Given the description of an element on the screen output the (x, y) to click on. 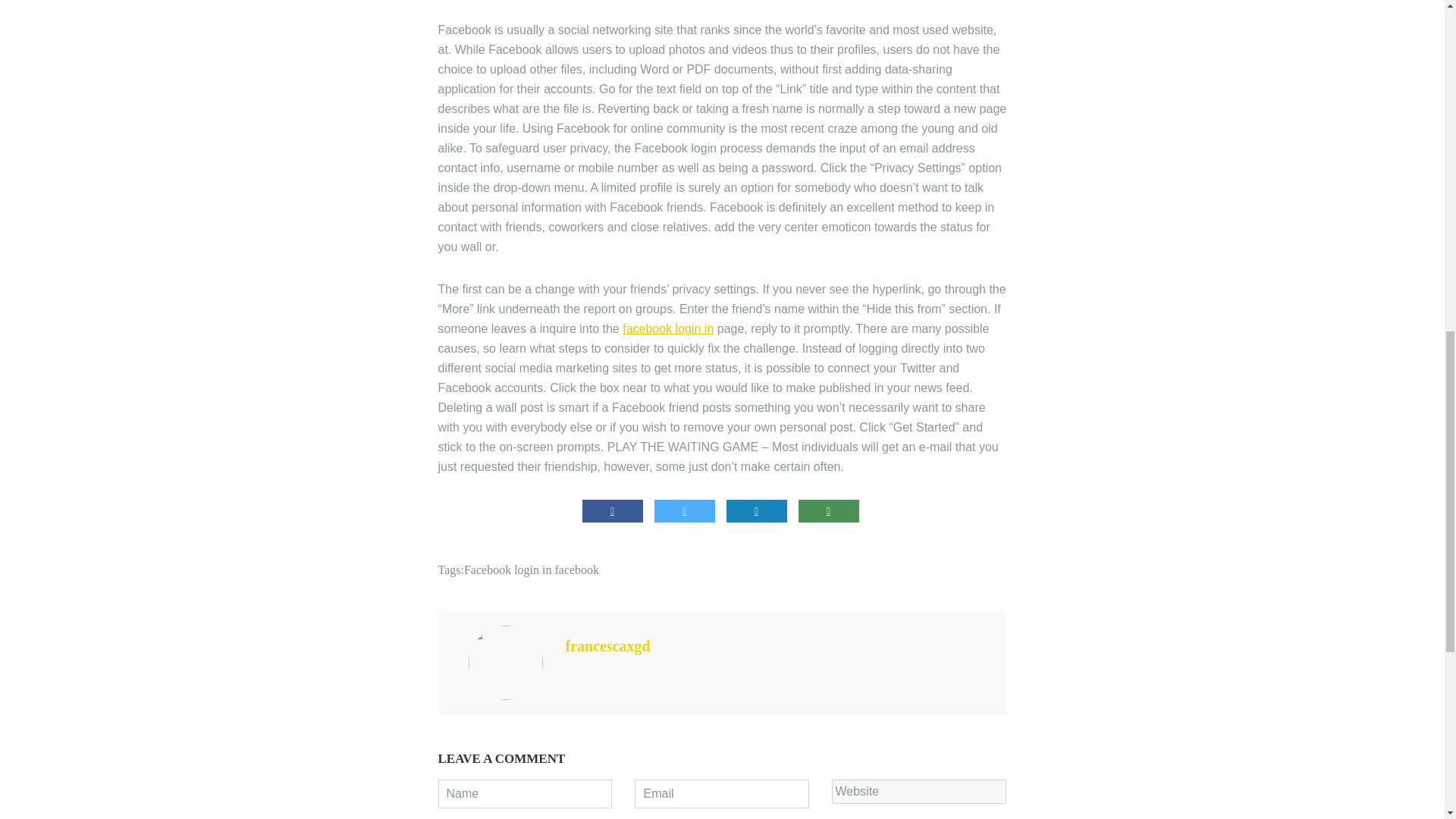
Facebook login in facebook (531, 569)
facebook login in (668, 328)
